Given the description of an element on the screen output the (x, y) to click on. 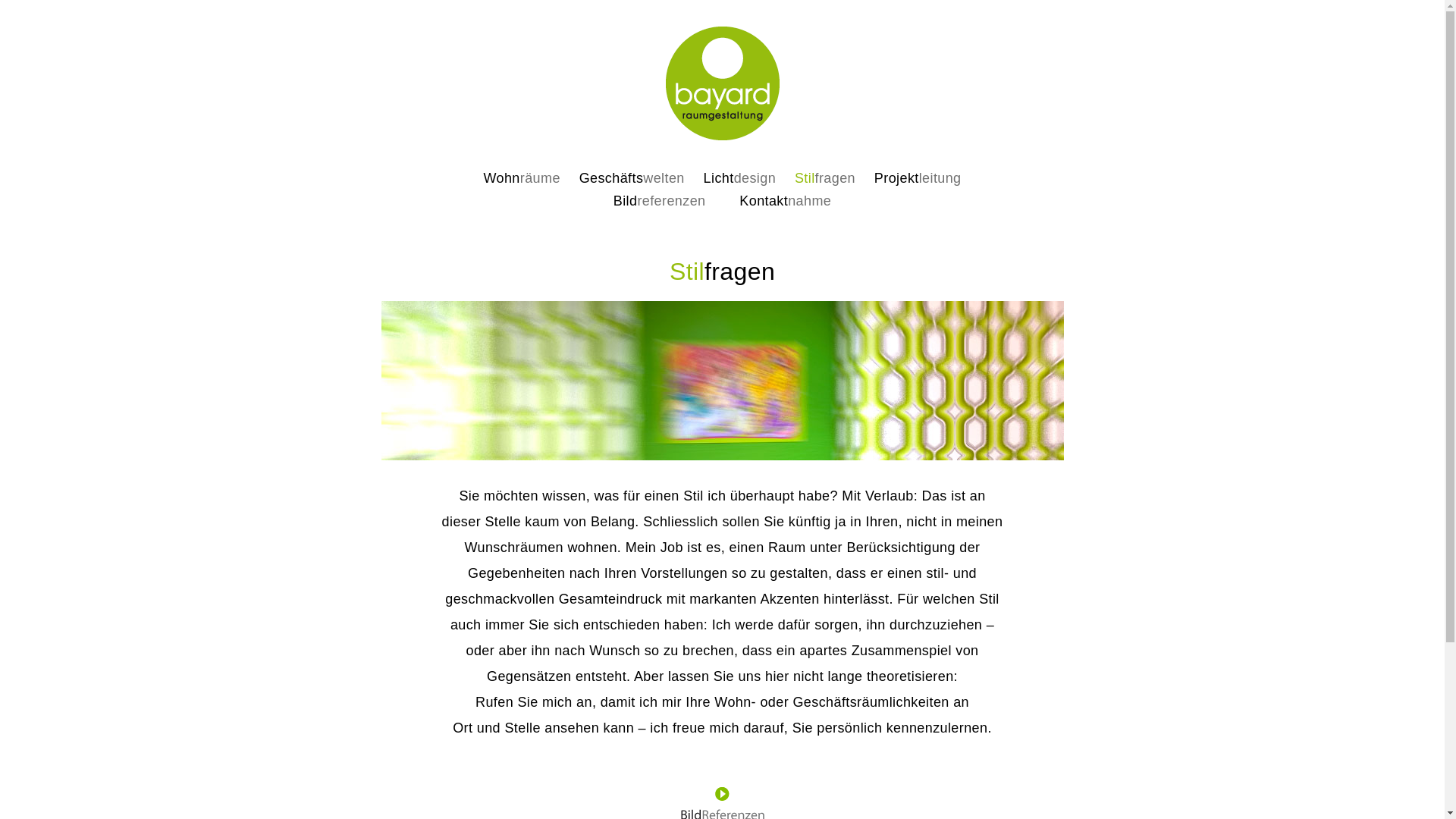
Bildreferenzen Element type: text (659, 200)
Lichtdesign Element type: text (739, 177)
Stilfragen Element type: text (824, 177)
Projektleitung Element type: text (917, 177)
Kontaktnahme Element type: text (785, 200)
